Given the description of an element on the screen output the (x, y) to click on. 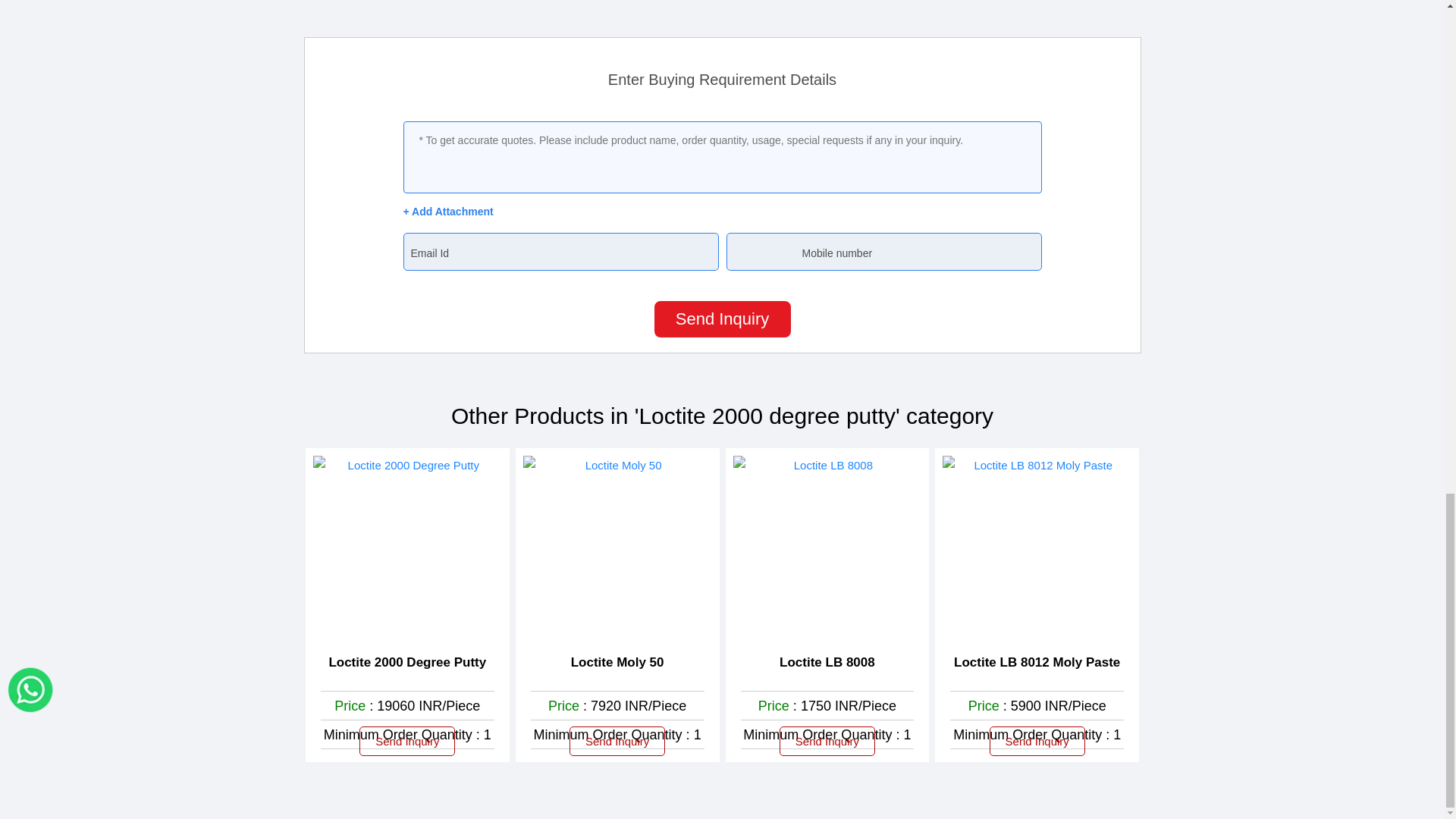
Send Inquiry (721, 319)
